Given the description of an element on the screen output the (x, y) to click on. 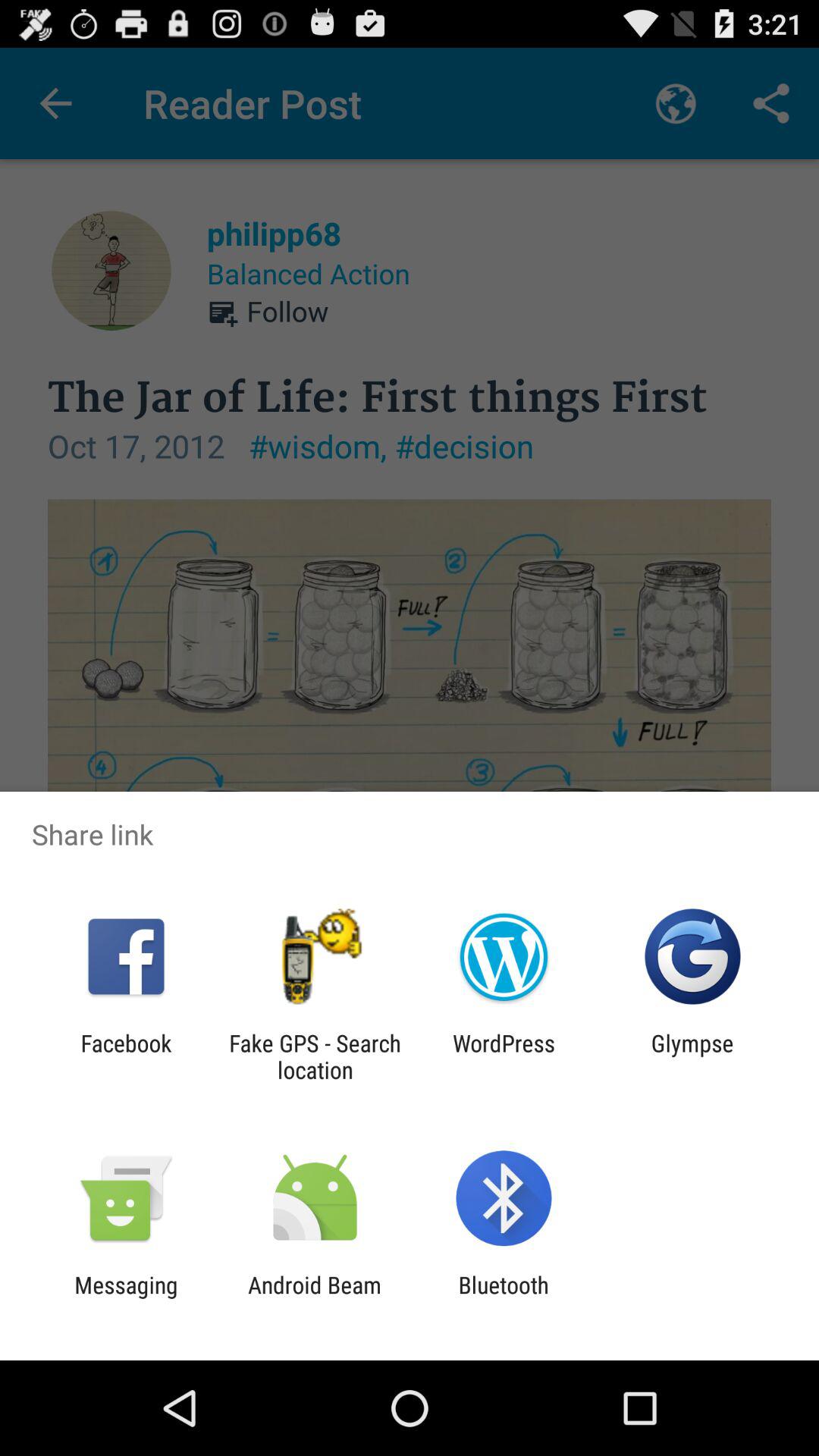
press app next to the wordpress icon (692, 1056)
